Given the description of an element on the screen output the (x, y) to click on. 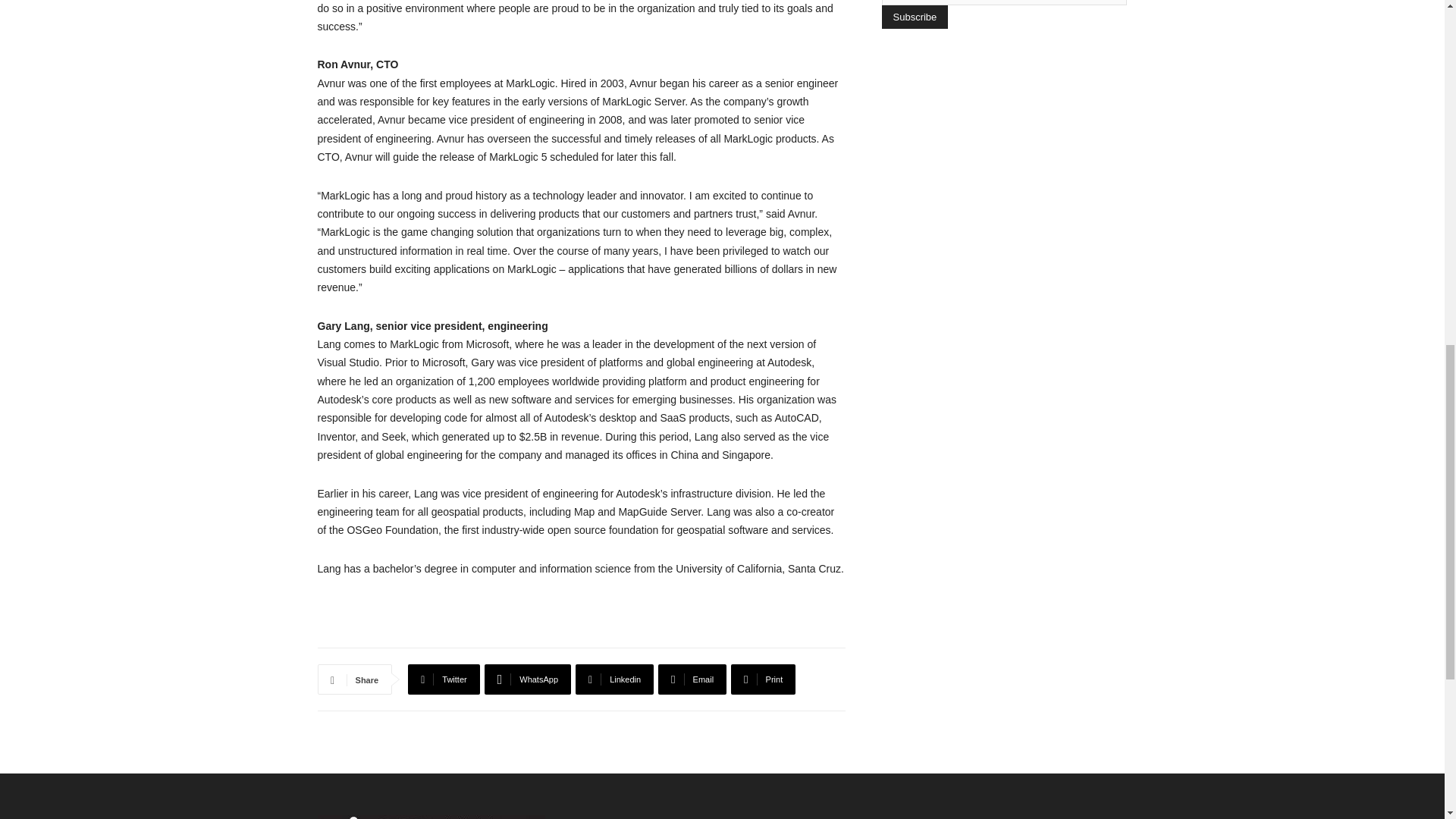
Subscribe (913, 16)
